Given the description of an element on the screen output the (x, y) to click on. 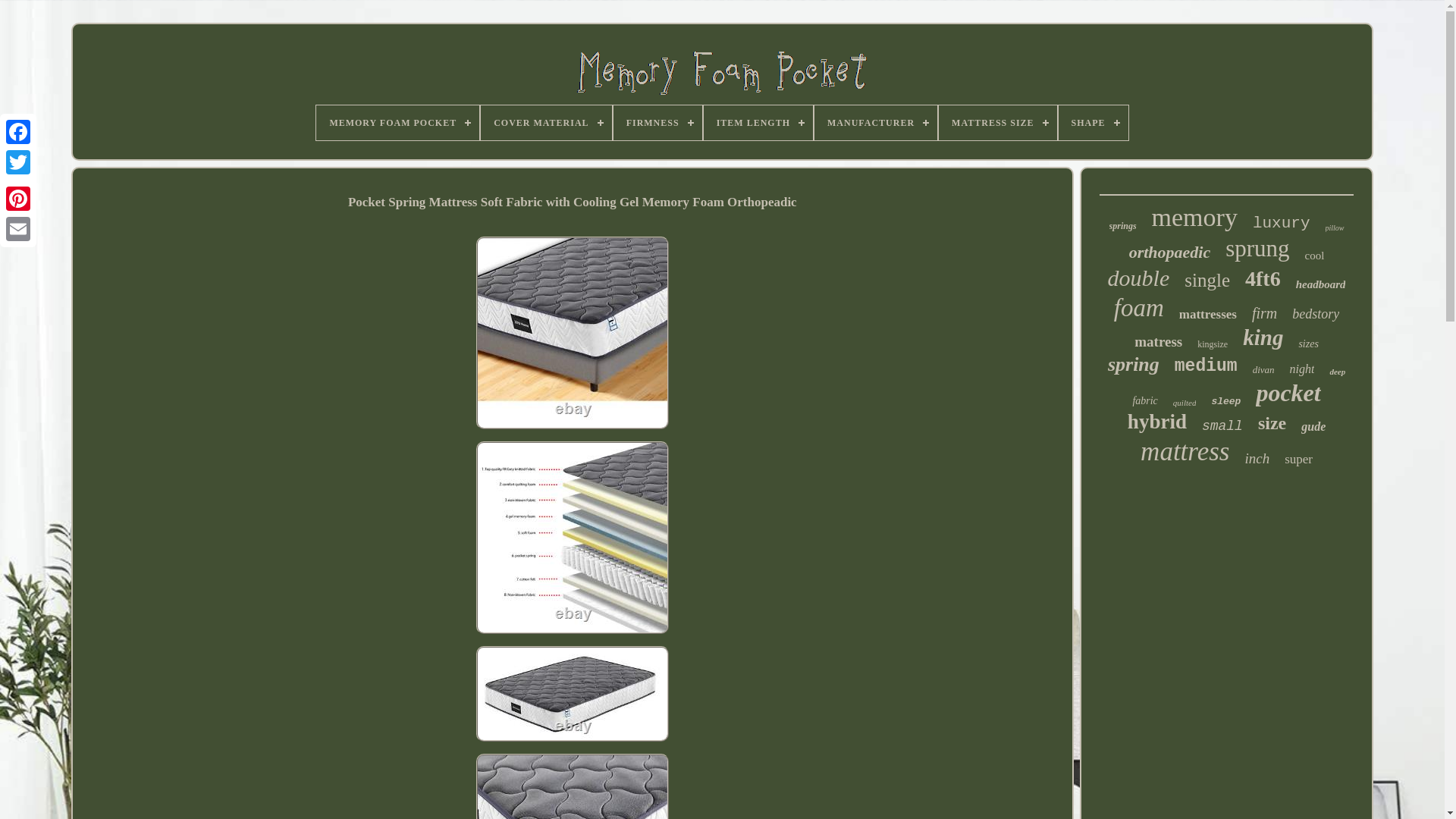
COVER MATERIAL (545, 122)
FIRMNESS (656, 122)
MEMORY FOAM POCKET (397, 122)
